Given the description of an element on the screen output the (x, y) to click on. 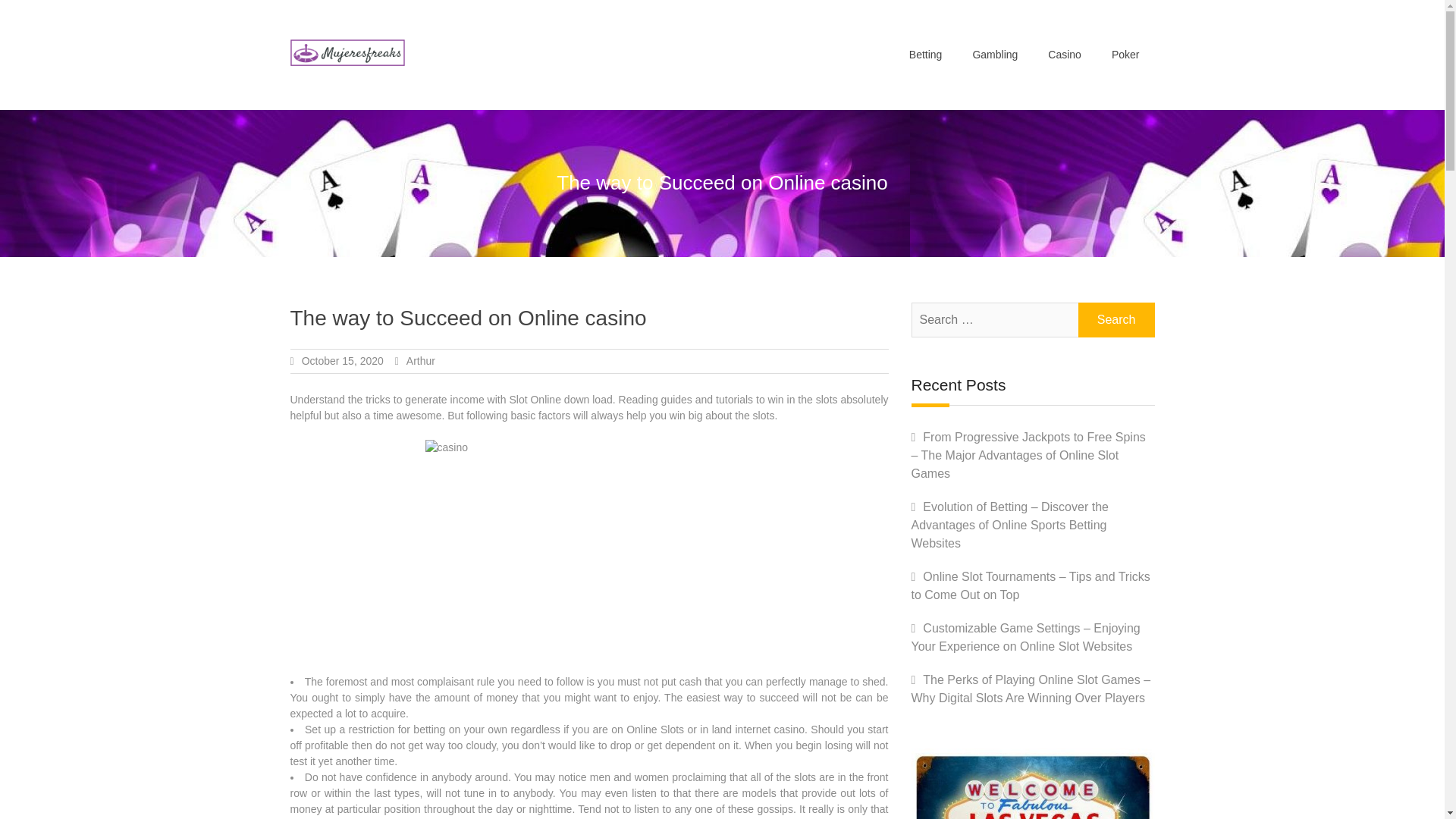
Gambling (994, 55)
Search (1116, 319)
Betting (925, 55)
Poker (1125, 55)
Search (1116, 319)
October 15, 2020 (342, 360)
Arthur (420, 360)
Search (1116, 319)
Casino (1064, 55)
